Given the description of an element on the screen output the (x, y) to click on. 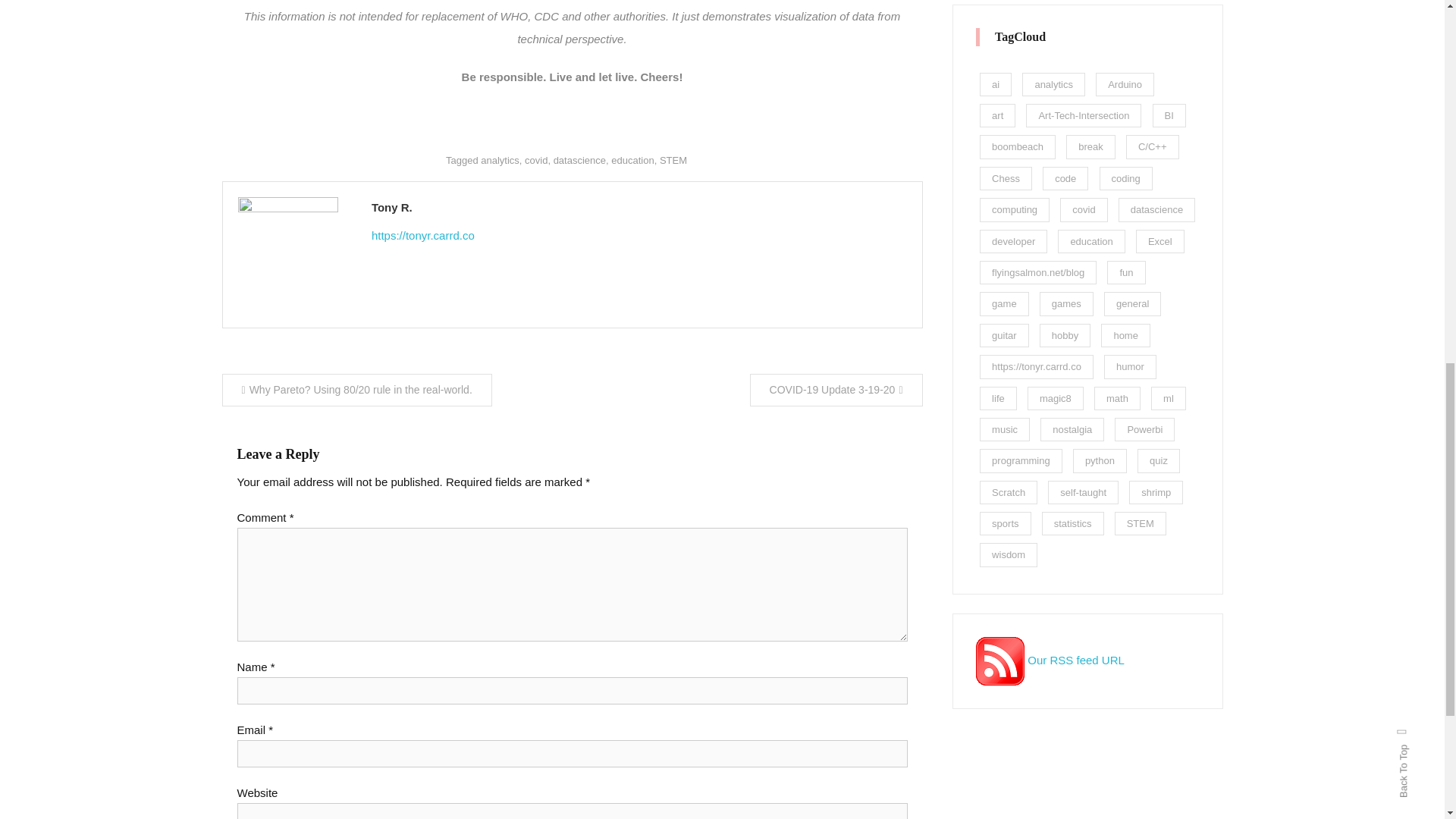
datascience (579, 160)
STEM (673, 160)
education (632, 160)
covid (535, 160)
COVID-19 Update 3-19-20 (836, 389)
Tony R. (639, 207)
analytics (499, 160)
